Given the description of an element on the screen output the (x, y) to click on. 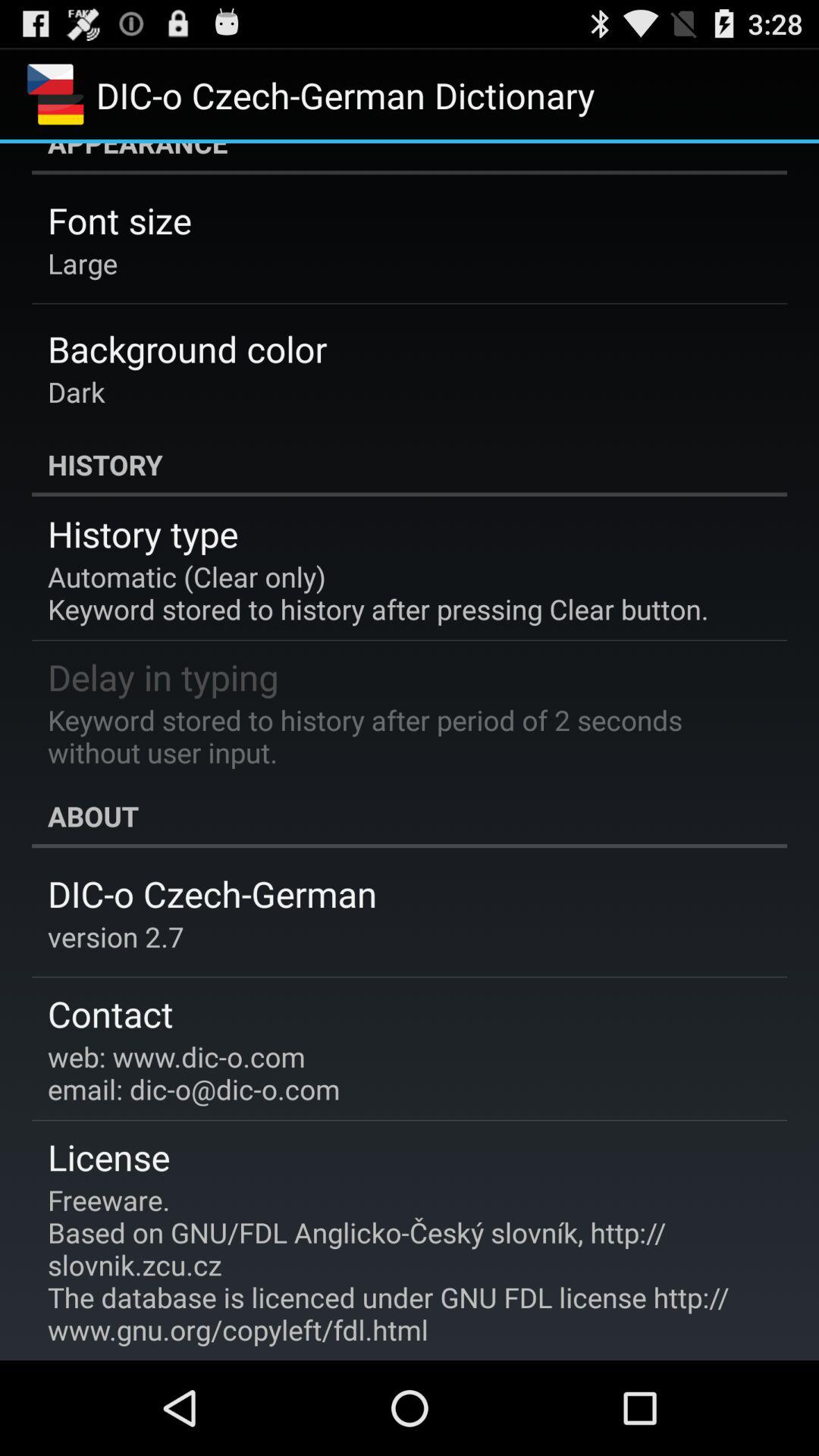
choose the large icon (82, 263)
